Given the description of an element on the screen output the (x, y) to click on. 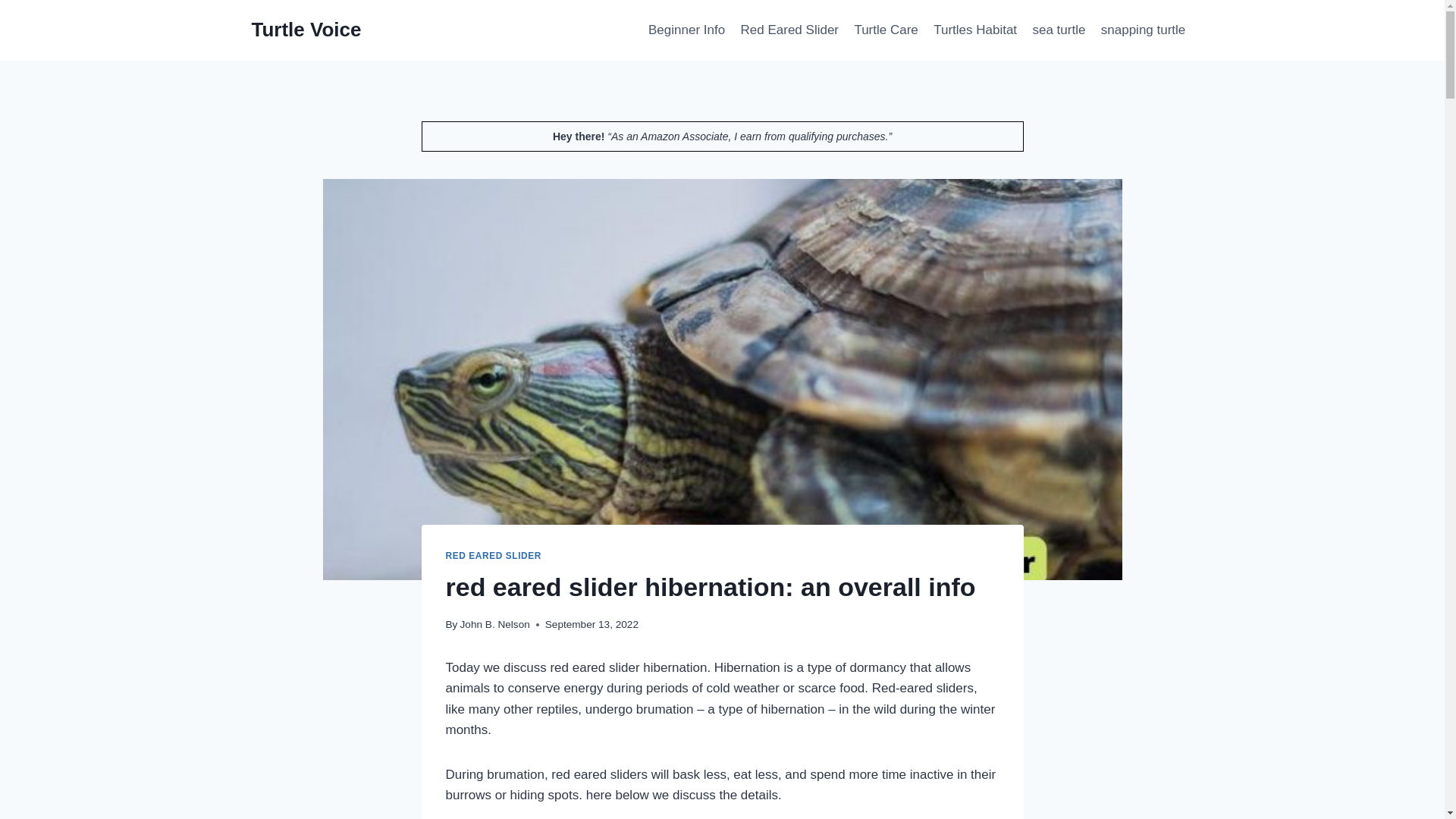
Turtle Care (885, 30)
Beginner Info (686, 30)
RED EARED SLIDER (493, 555)
Turtles Habitat (975, 30)
sea turtle (1059, 30)
snapping turtle (1143, 30)
Red Eared Slider (788, 30)
Turtle Voice (306, 29)
John B. Nelson (494, 624)
